Given the description of an element on the screen output the (x, y) to click on. 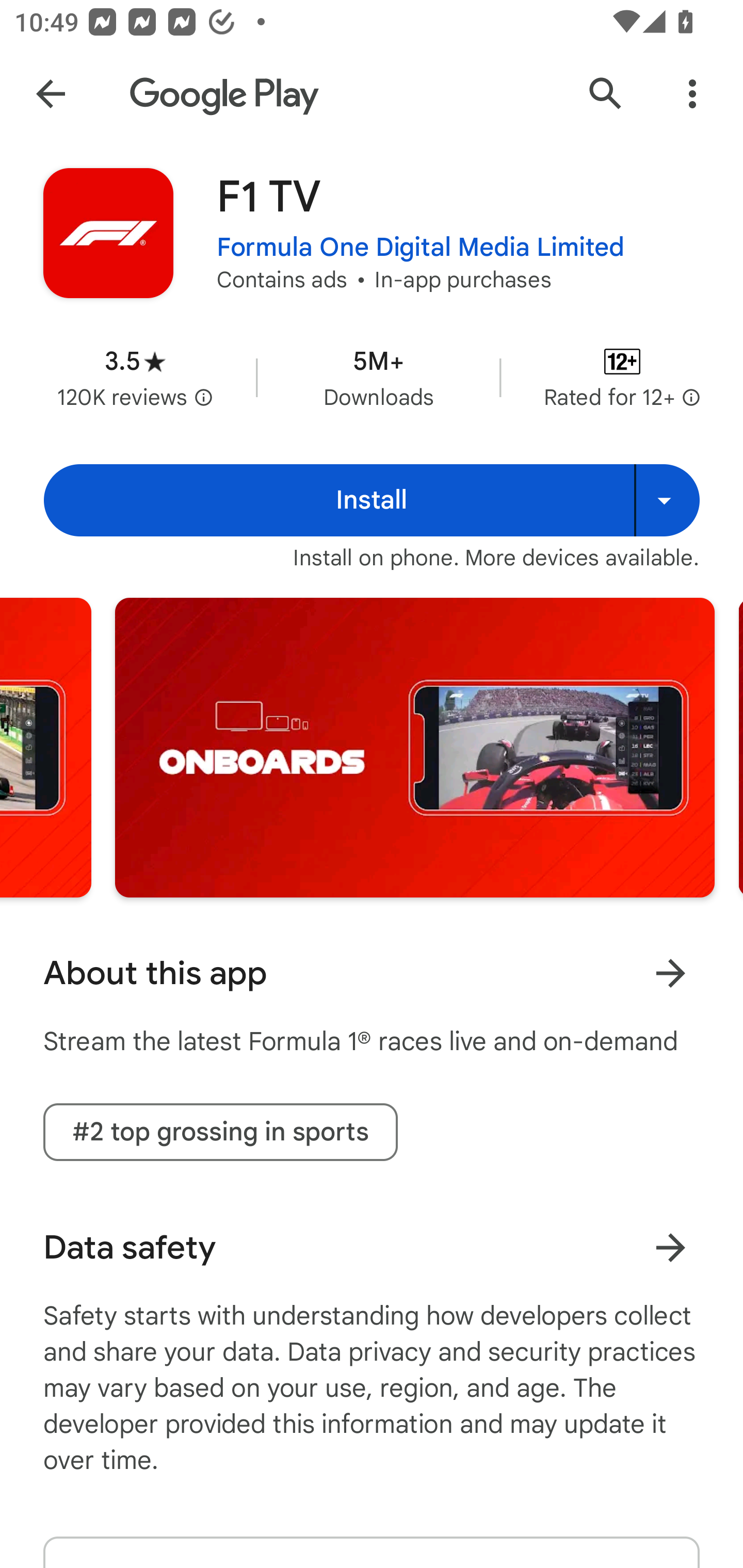
Navigate up (50, 93)
Search Google Play (605, 93)
More Options (692, 93)
Formula One Digital Media Limited (420, 247)
Average rating 3.5 stars in 120 thousand reviews (135, 377)
Content rating Rated for 12+ (622, 377)
Install Install Install on more devices (371, 500)
Install on more devices (667, 500)
Screenshot "2" of "5" (414, 746)
About this app Learn more About this app (371, 972)
Learn more About this app (670, 972)
#2 top grossing in sports tag (220, 1132)
Data safety Learn more about data safety (371, 1247)
Learn more about data safety (670, 1247)
